Given the description of an element on the screen output the (x, y) to click on. 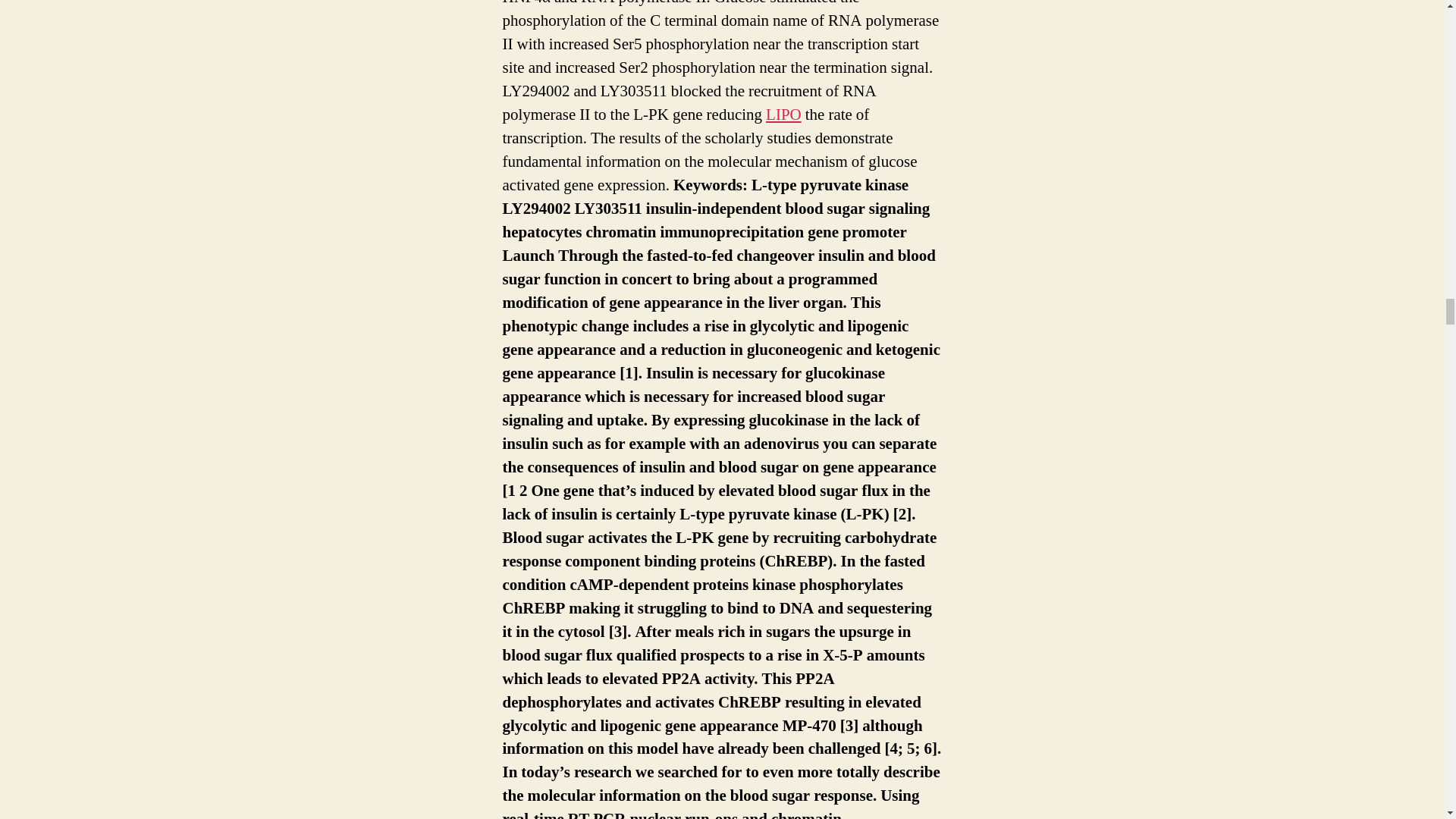
LIPO (783, 114)
